Given the description of an element on the screen output the (x, y) to click on. 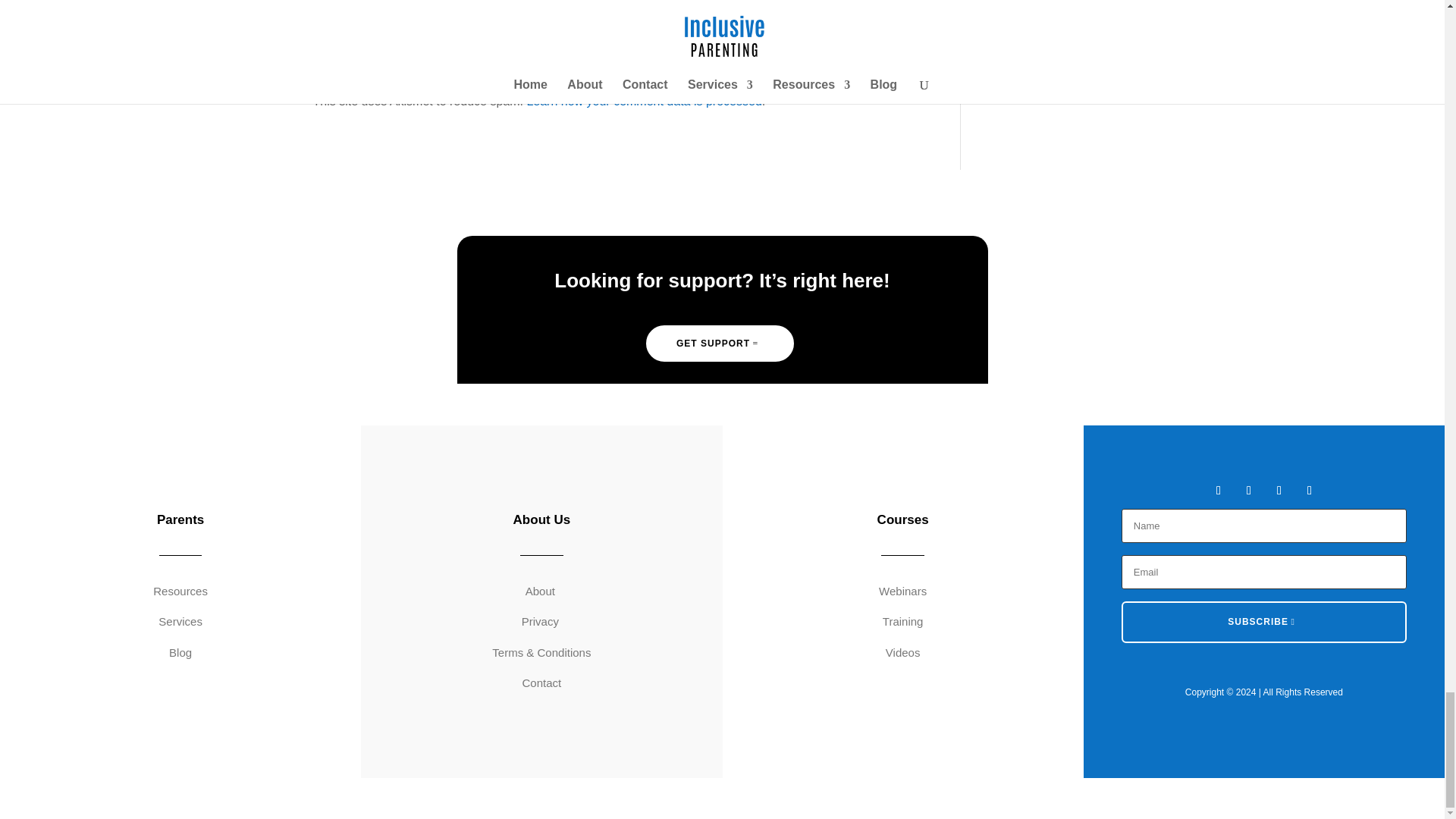
Follow on Twitter (1248, 490)
Follow on Facebook (1218, 490)
Follow on Instagram (1278, 490)
Follow on Pinterest (1309, 490)
Learn how your comment data is processed (643, 101)
Submit Comment (840, 21)
Submit Comment (840, 21)
